Given the description of an element on the screen output the (x, y) to click on. 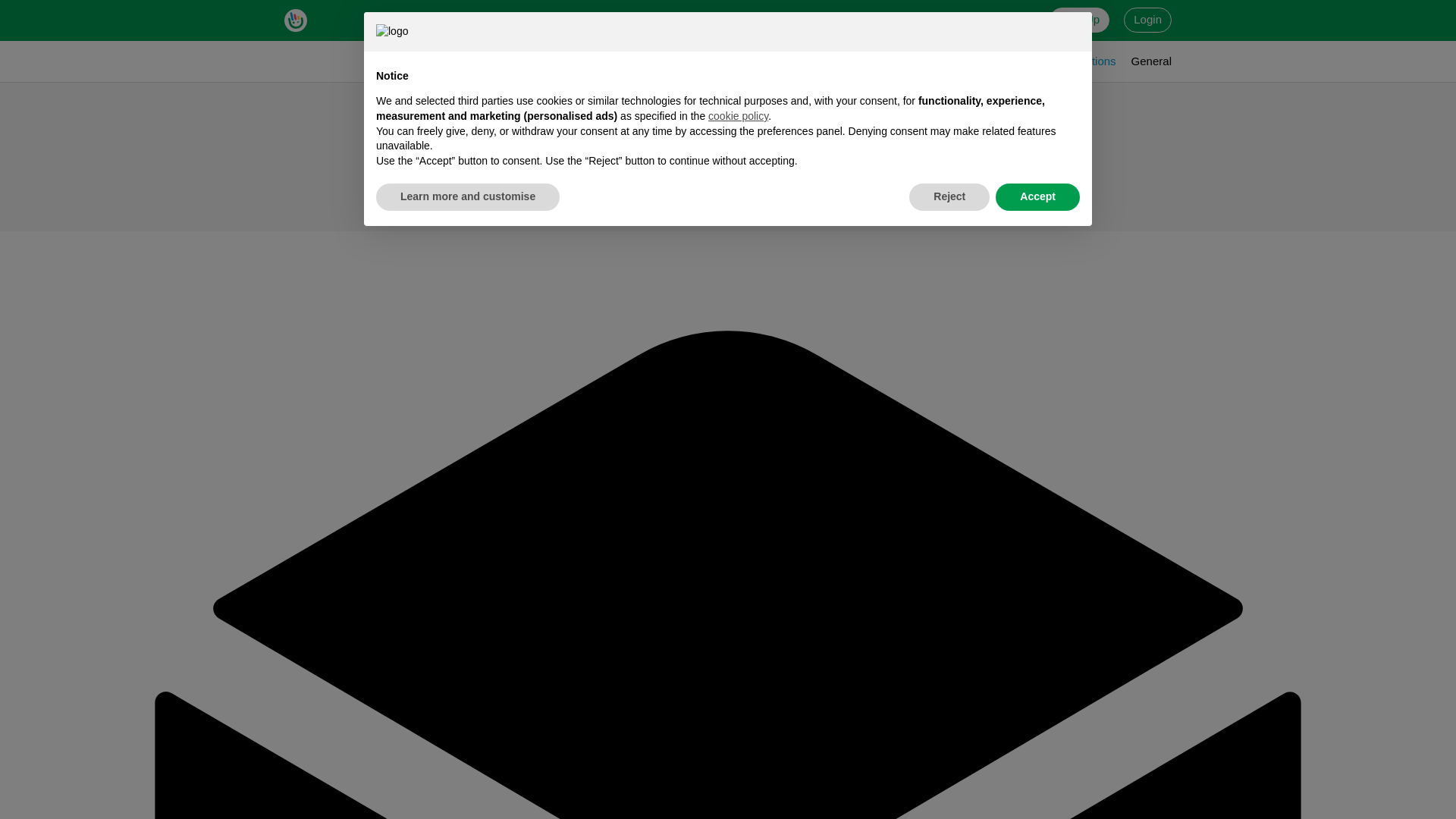
Diaries (905, 60)
Sign in-out (965, 60)
Login (1148, 20)
Fees (1021, 60)
Watch the video tutorial or send a ticket for support (683, 19)
Sign up in 1 minute, it's free! (1079, 20)
Tutorial and Ticket (683, 19)
Features (470, 19)
Observations (1081, 60)
Discover the Free or Premium Plan (890, 19)
General (1151, 60)
Discover Kindertap features (470, 19)
Log in to Kindertap (1148, 20)
Sign Up (1079, 20)
Pricing (890, 19)
